Given the description of an element on the screen output the (x, y) to click on. 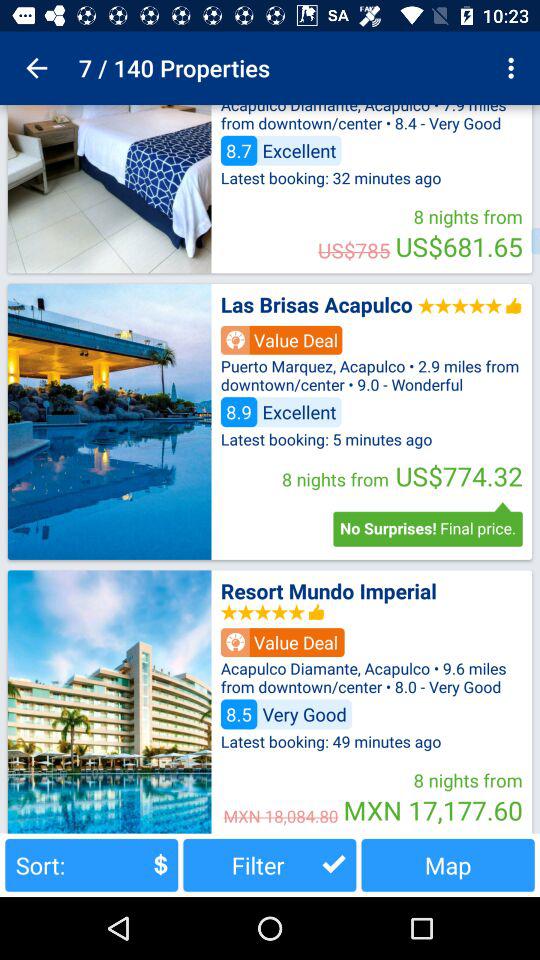
launch sort:  button (91, 864)
